Given the description of an element on the screen output the (x, y) to click on. 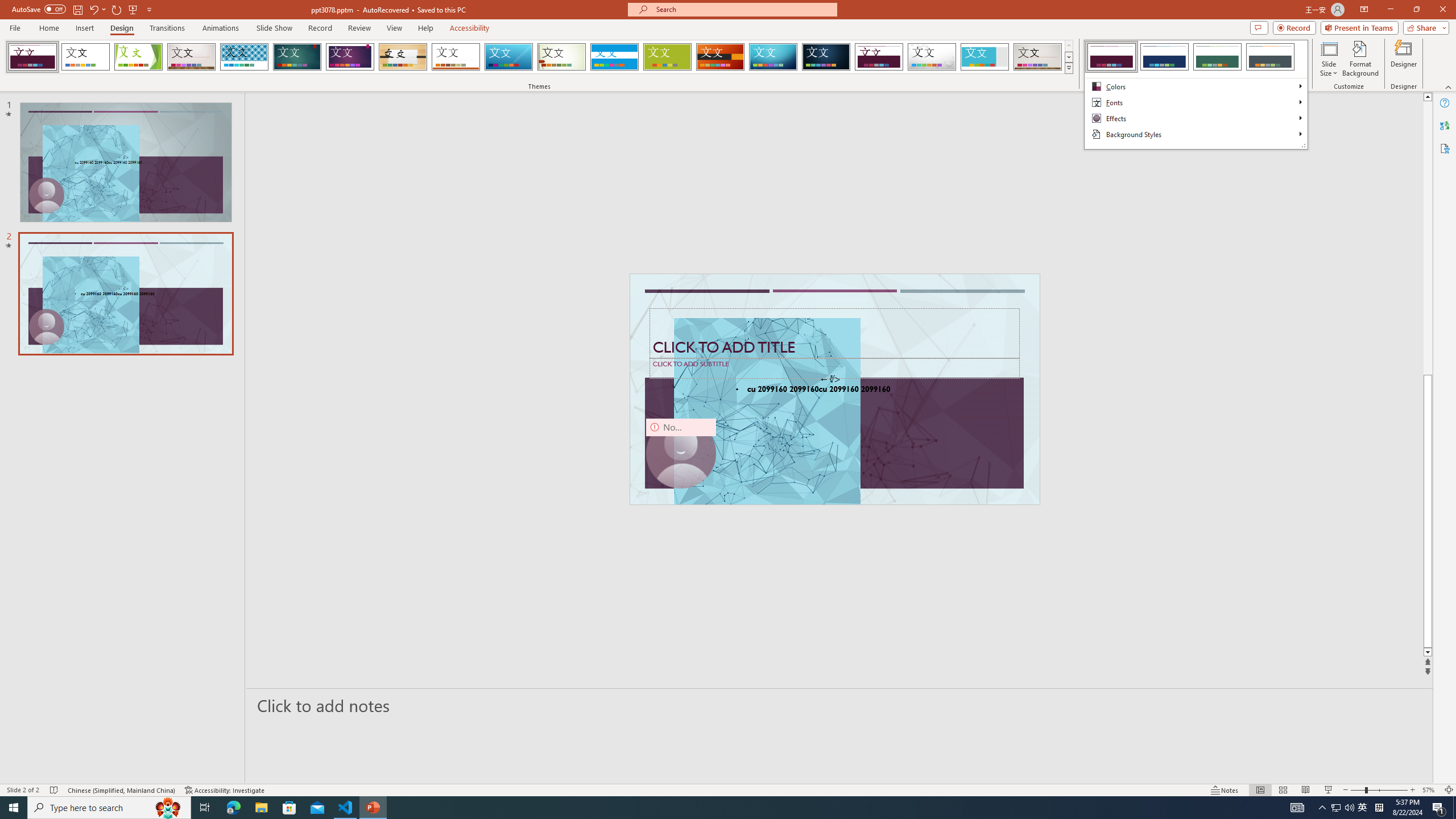
Page up (1427, 238)
Slice (508, 56)
Translator (1444, 125)
Zoom 57% (1362, 807)
Format Background (1430, 790)
Action Center, 1 new notification (1360, 58)
Organic (1439, 807)
Ion (403, 56)
Camera 9, No camera detected. (296, 56)
